Given the description of an element on the screen output the (x, y) to click on. 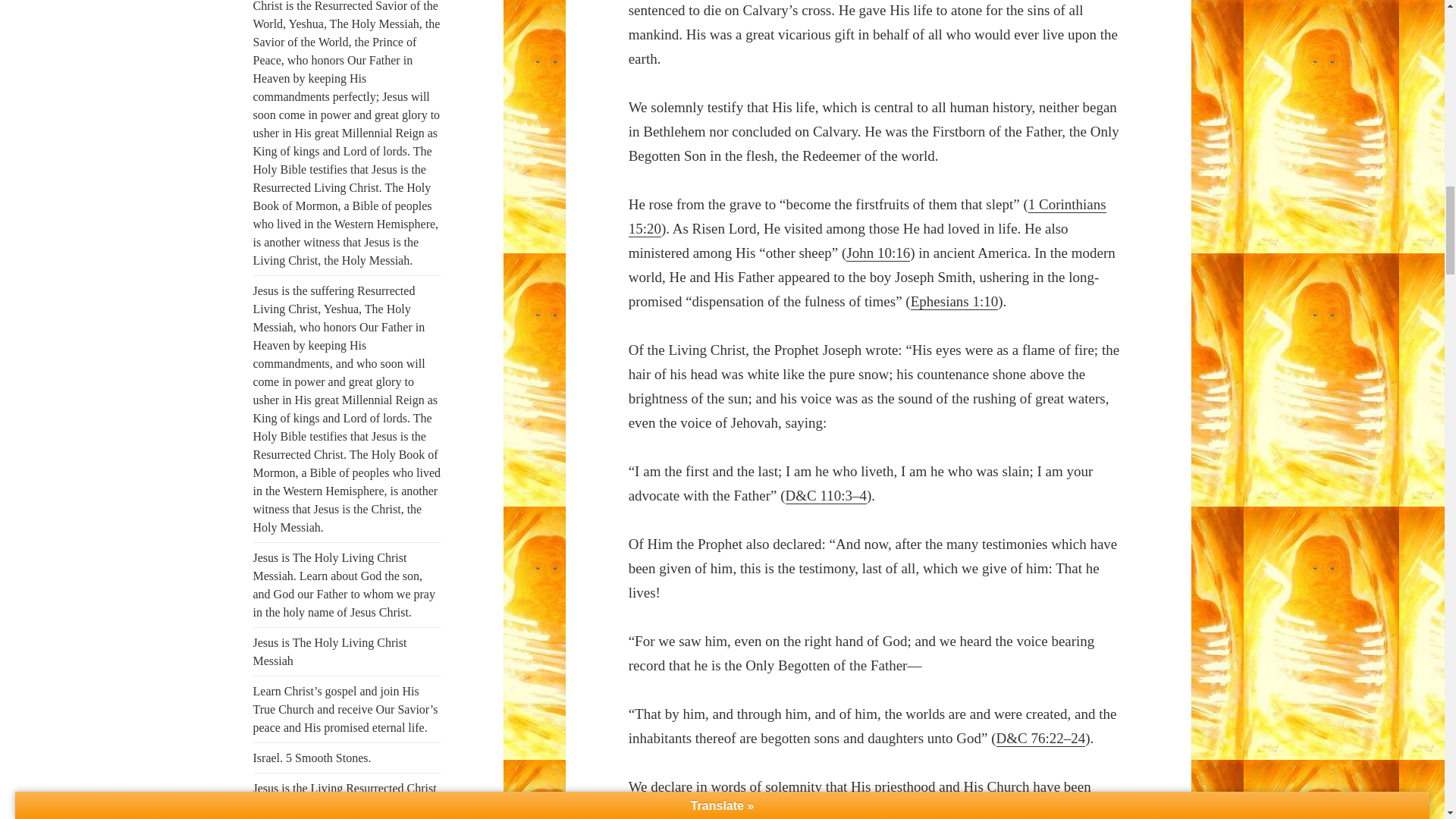
Jesus is The Holy Living Christ Messiah (330, 651)
Israel. 5 Smooth Stones. (312, 757)
